Given the description of an element on the screen output the (x, y) to click on. 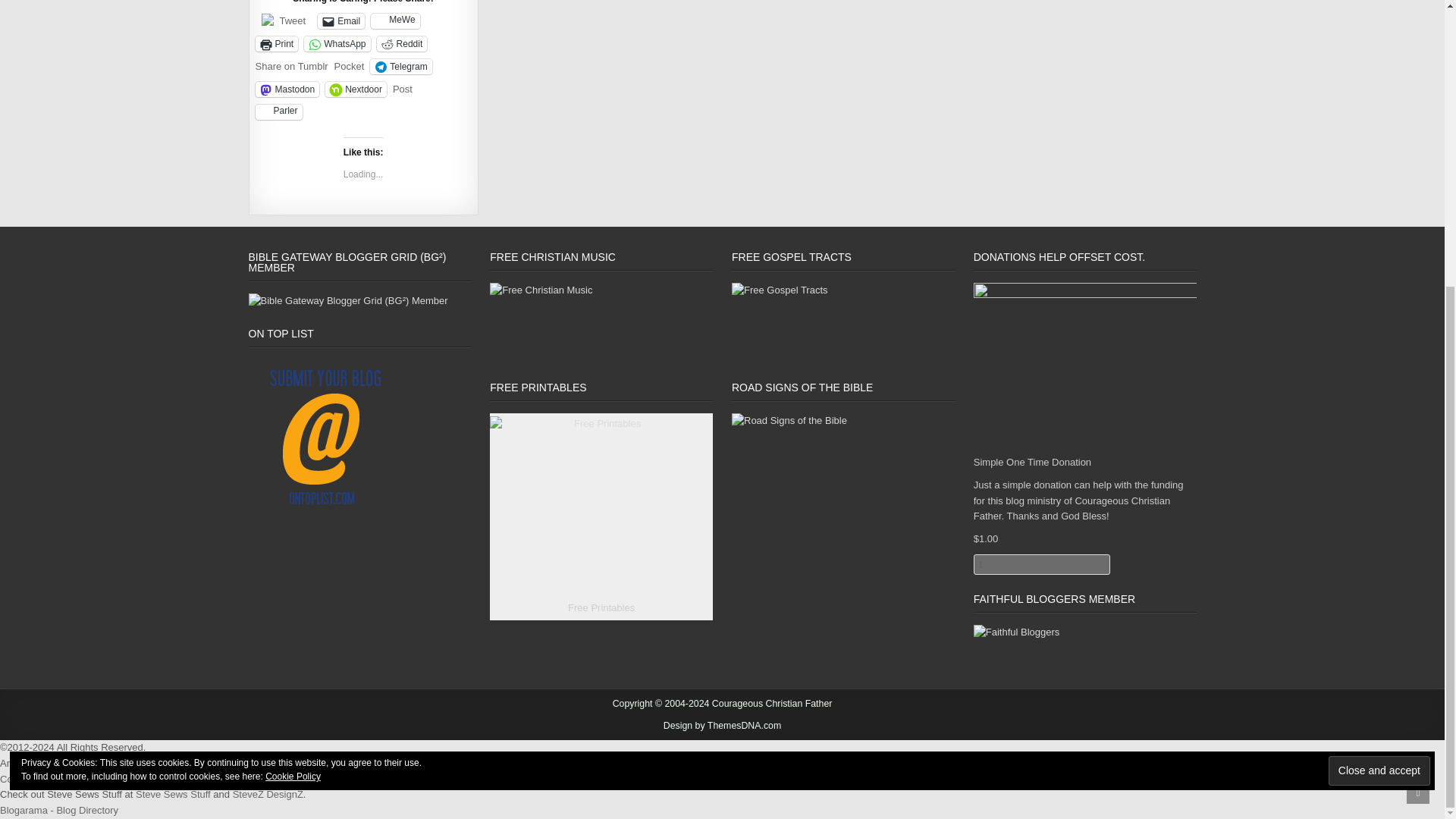
Pocket (349, 66)
Click to print (276, 43)
Reddit (402, 43)
Click to email a link to a friend (341, 20)
Click to share on Reddit (402, 43)
Close and accept (1378, 337)
Click to share on MeWe (395, 20)
Click to share on WhatsApp (336, 43)
MeWe (395, 20)
Scroll to Top (1417, 359)
